Given the description of an element on the screen output the (x, y) to click on. 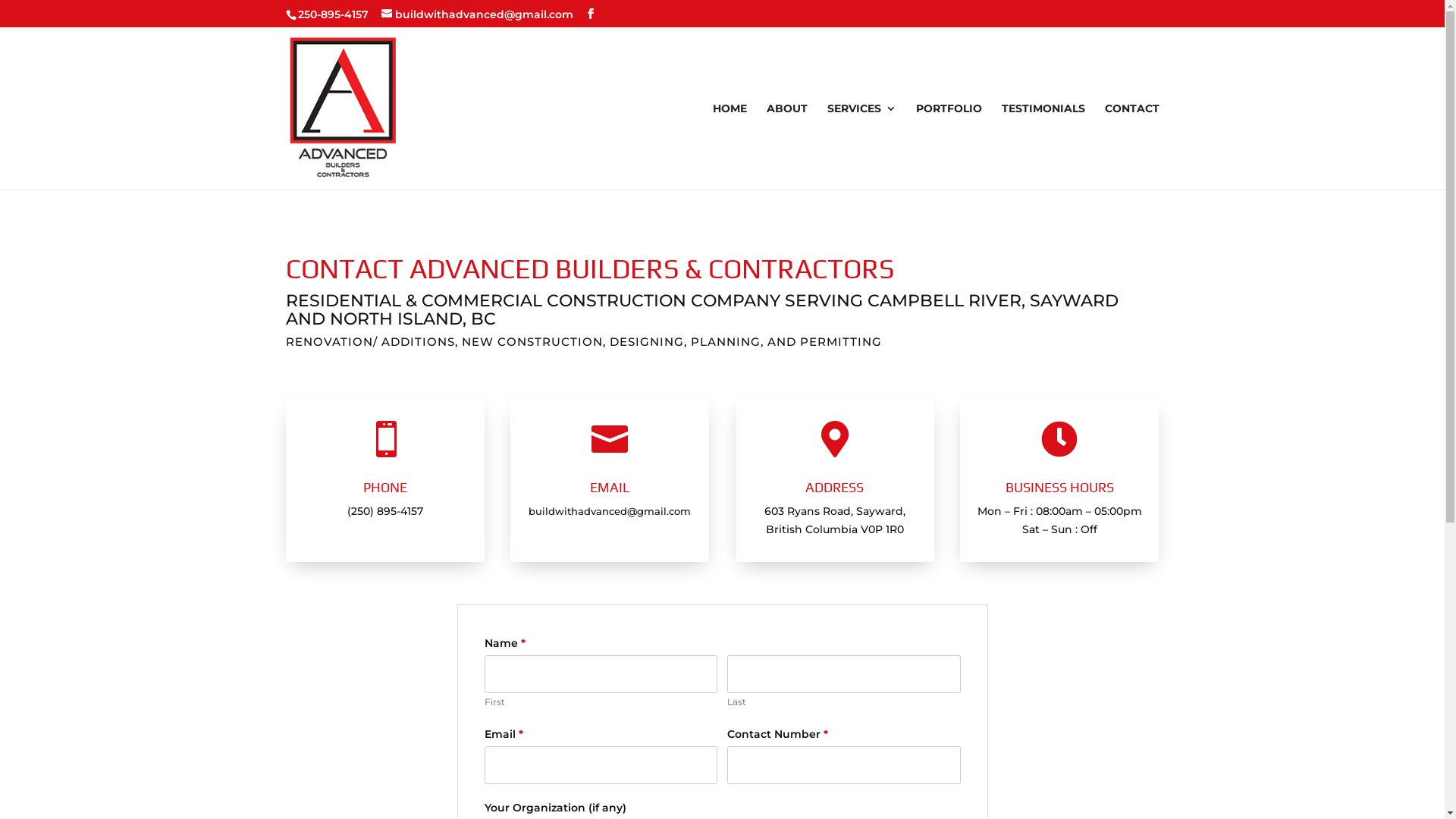
CONTACT Element type: text (1131, 146)
ABOUT Element type: text (785, 146)
TESTIMONIALS Element type: text (1042, 146)
HOME Element type: text (729, 146)
PORTFOLIO Element type: text (949, 146)
buildwithadvanced@gmail.com Element type: text (476, 14)
SERVICES Element type: text (860, 146)
